Given the description of an element on the screen output the (x, y) to click on. 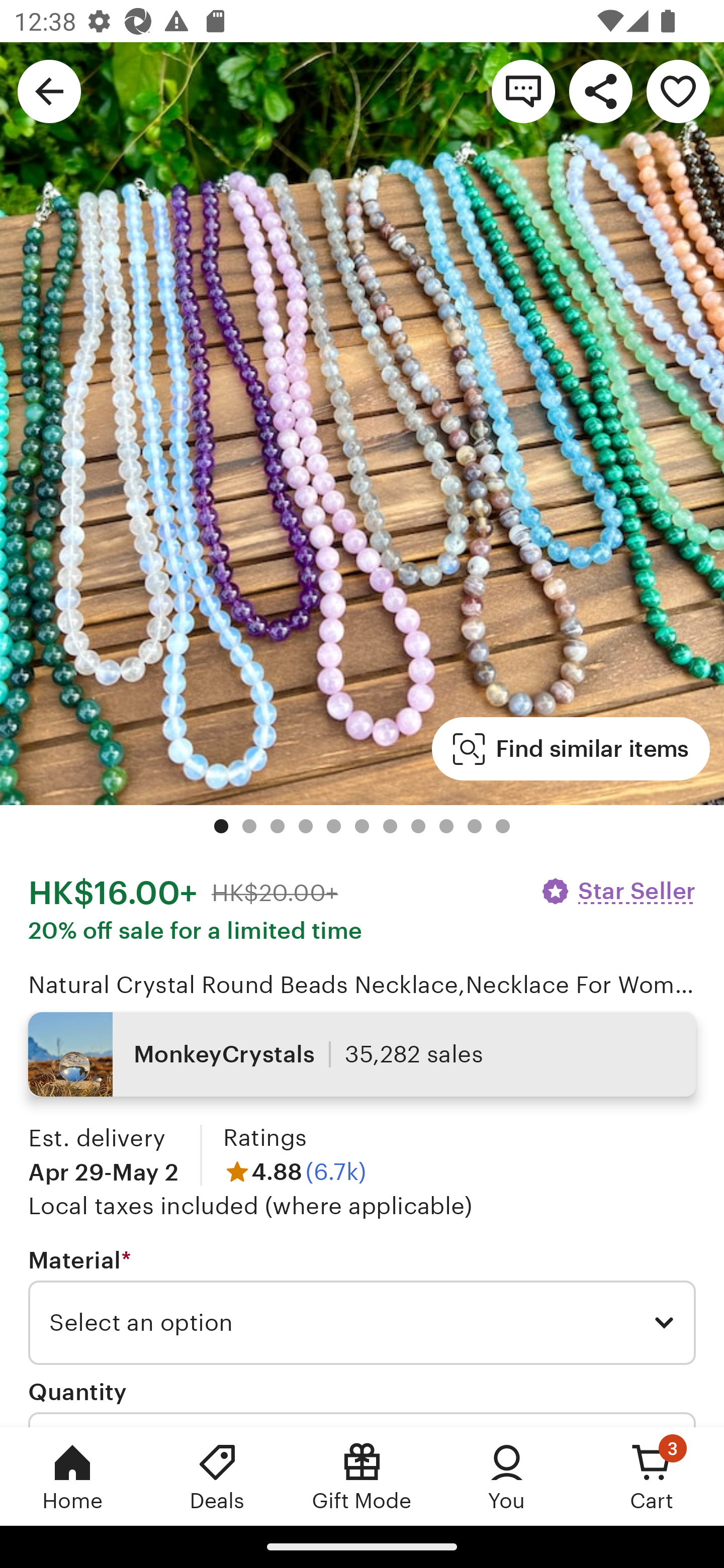
Navigate up (49, 90)
Contact shop (523, 90)
Share (600, 90)
Find similar items (571, 748)
Star Seller (617, 890)
MonkeyCrystals 35,282 sales (361, 1054)
Ratings (264, 1137)
4.88 (6.7k) (294, 1171)
Material * Required Select an option (361, 1306)
Select an option (361, 1323)
Quantity (77, 1391)
Deals (216, 1475)
Gift Mode (361, 1475)
You (506, 1475)
Cart, 3 new notifications Cart (651, 1475)
